Given the description of an element on the screen output the (x, y) to click on. 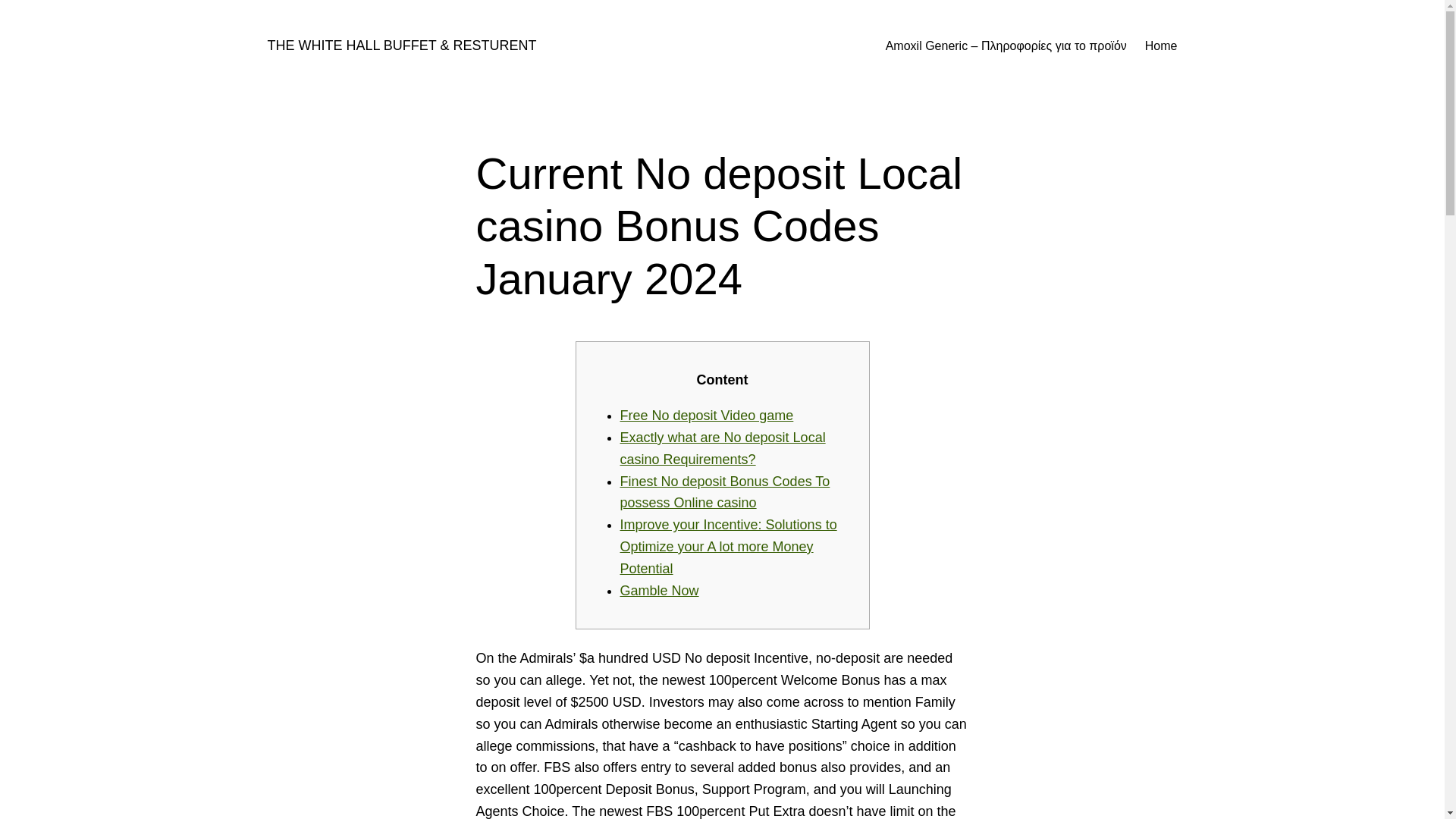
Exactly what are No deposit Local casino Requirements? (722, 447)
Home (1160, 46)
Finest No deposit Bonus Codes To possess Online casino (724, 492)
Free No deposit Video game (706, 415)
Gamble Now (659, 590)
